Given the description of an element on the screen output the (x, y) to click on. 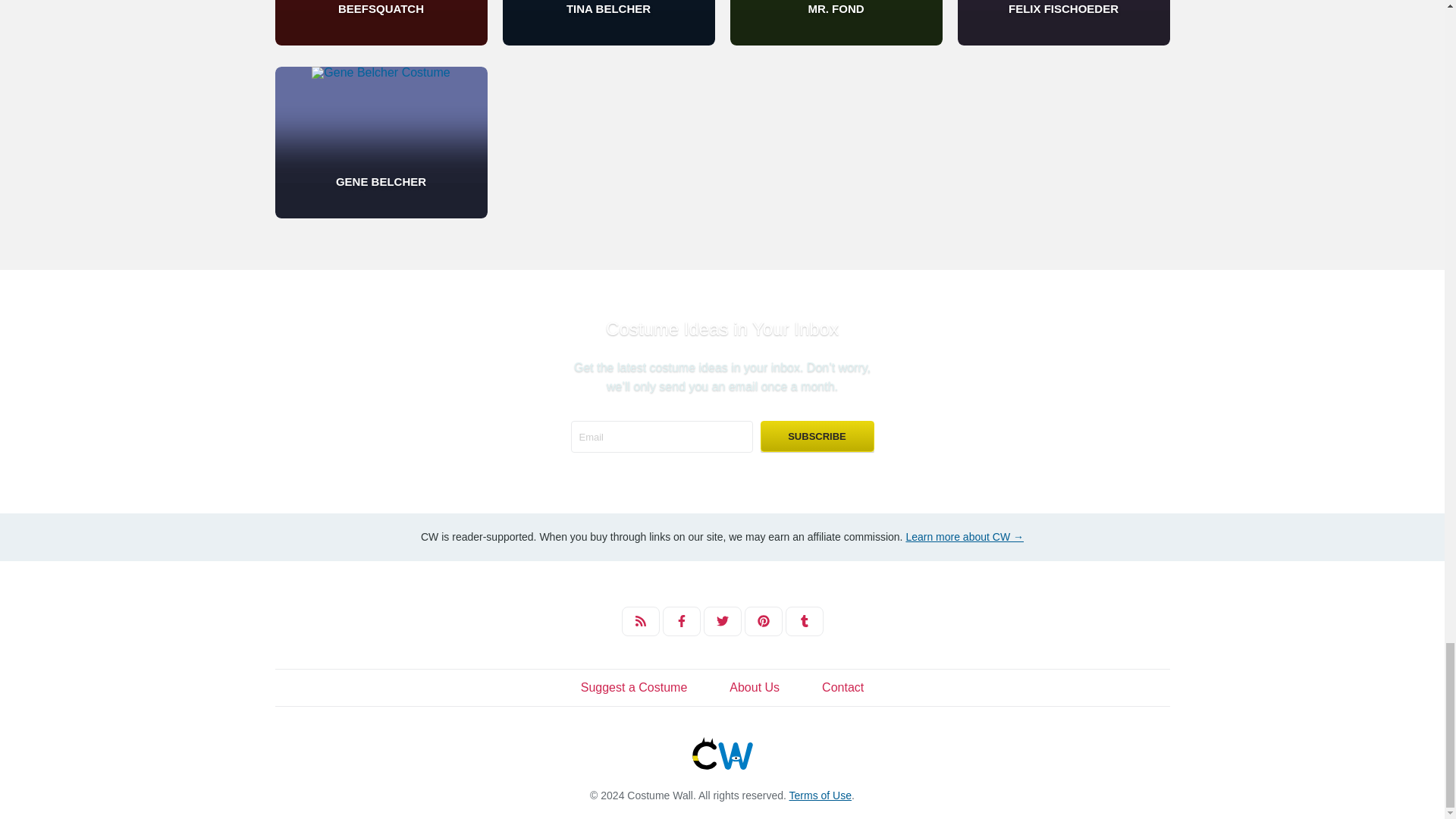
Subscribe (816, 436)
